Given the description of an element on the screen output the (x, y) to click on. 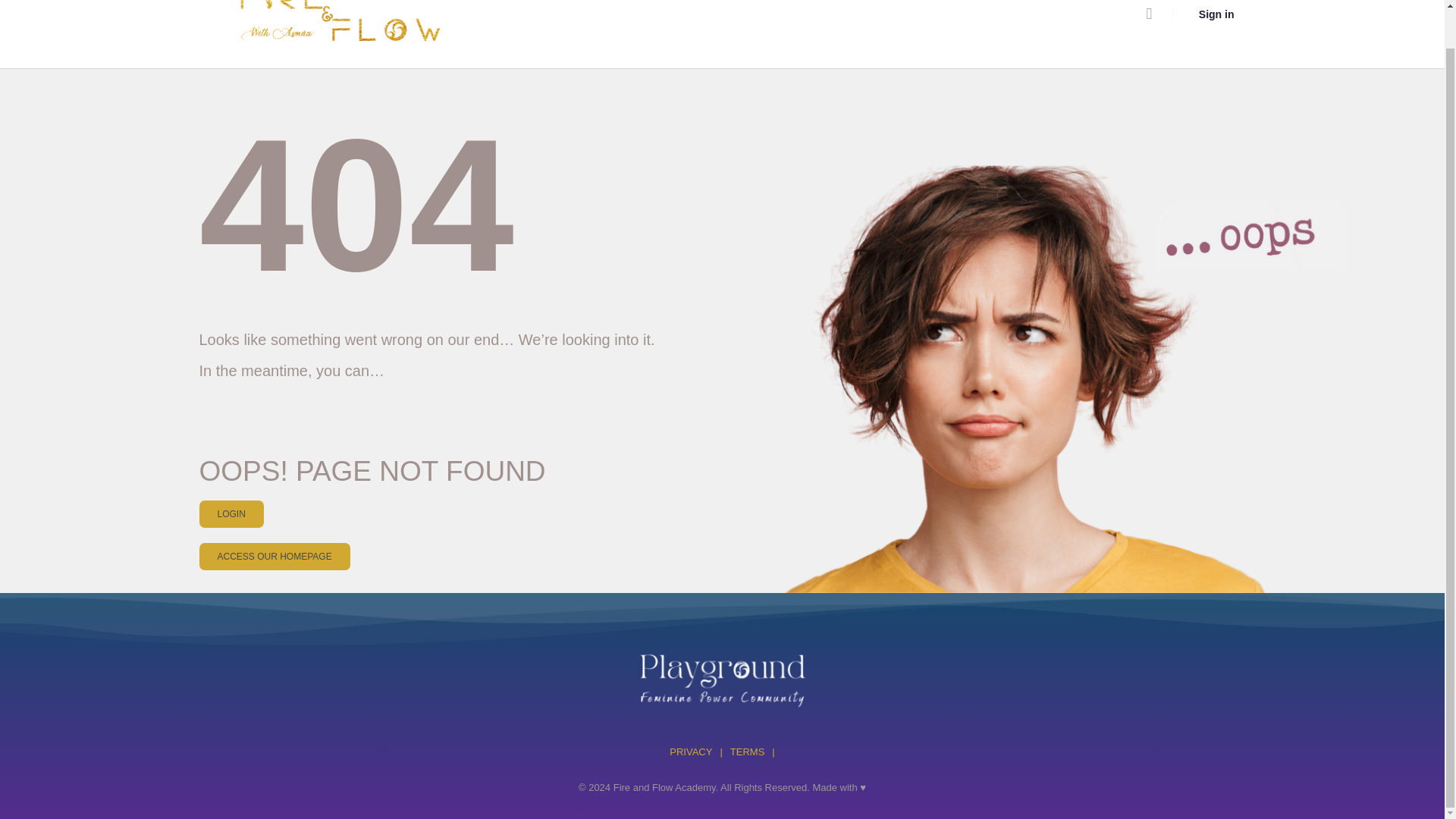
Sign in (1216, 15)
TERMS (747, 752)
LOGIN (230, 513)
ACCESS OUR HOMEPAGE (273, 556)
PRIVACY (690, 752)
